Given the description of an element on the screen output the (x, y) to click on. 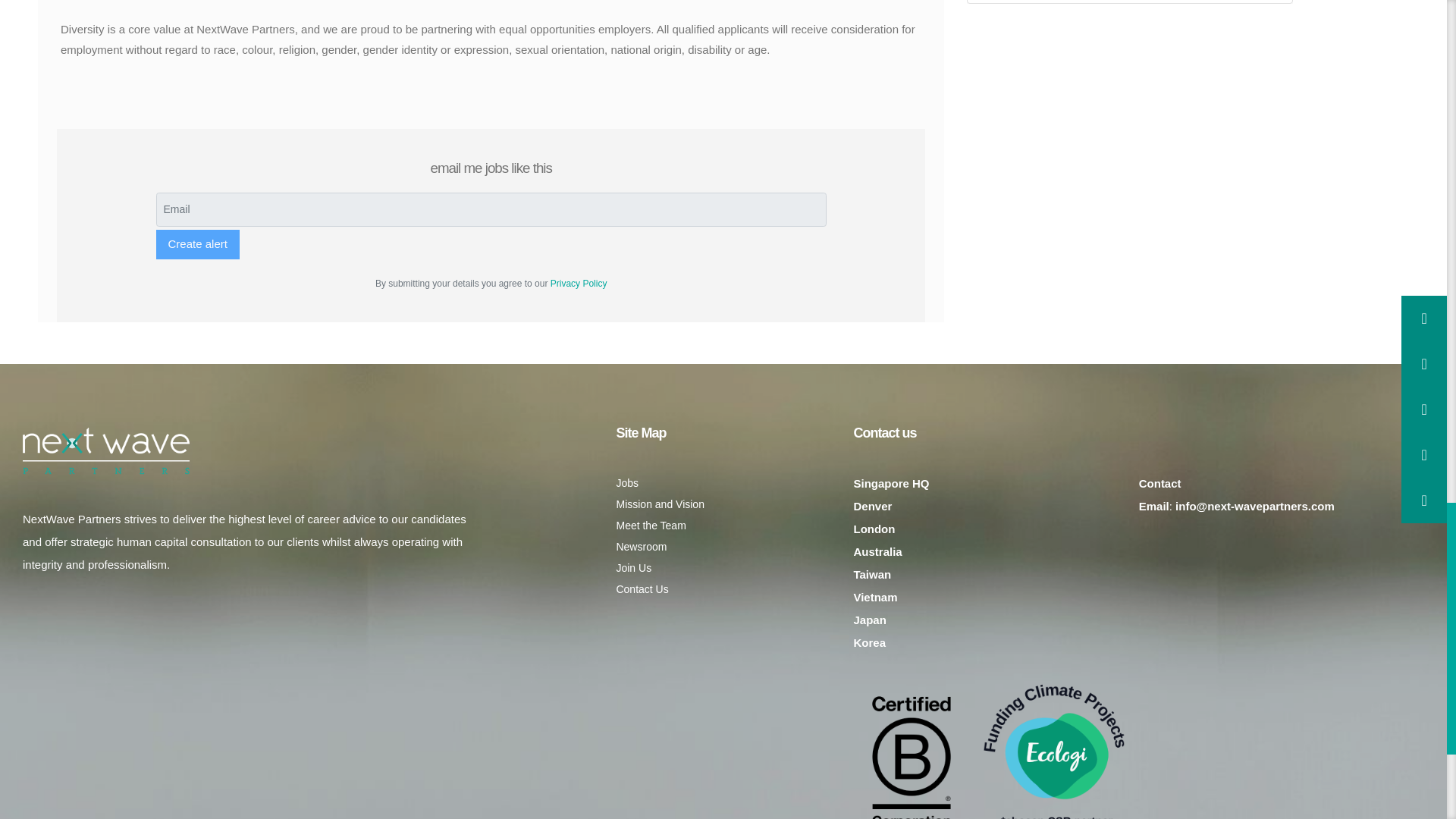
Go to the Homepage (106, 451)
